Given the description of an element on the screen output the (x, y) to click on. 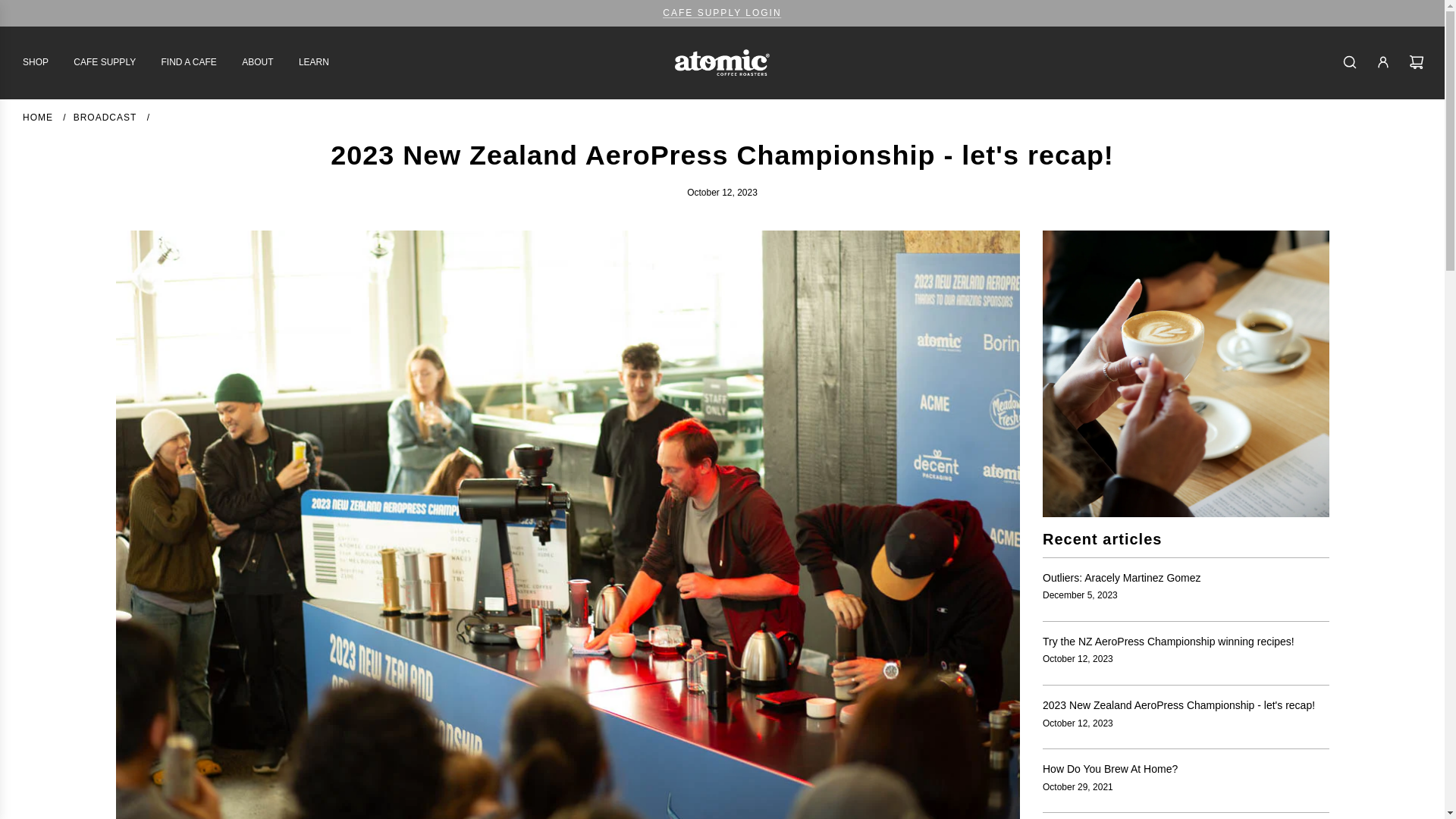
Broadcast (106, 117)
Cafe supply login (721, 12)
Back to the frontpage (39, 117)
CAFE SUPPLY LOGIN (721, 12)
